Given the description of an element on the screen output the (x, y) to click on. 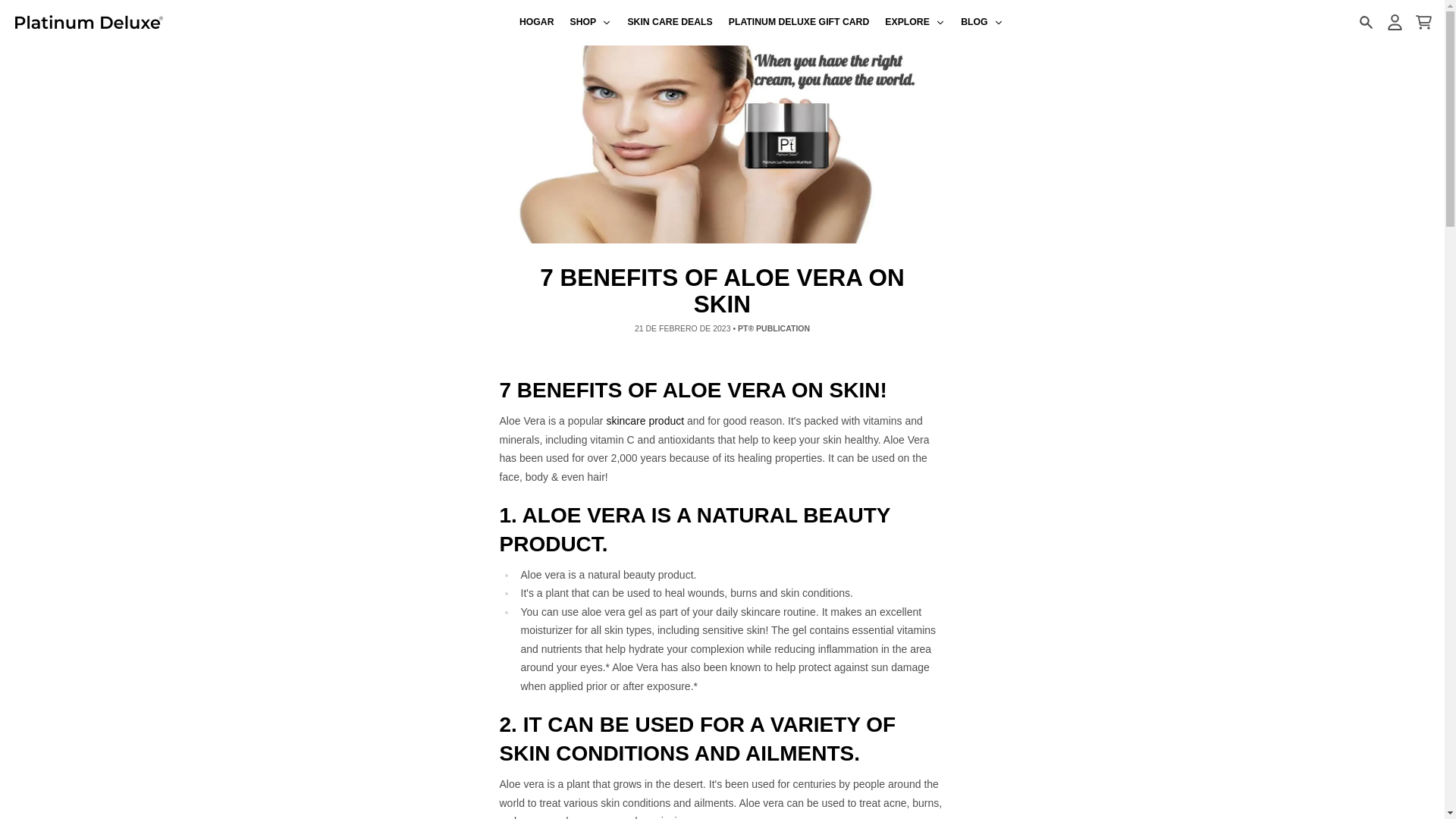
HOGAR (536, 22)
Ir directamente al contenido (18, 7)
PLATINUM DELUXE GIFT CARD (798, 22)
SKIN CARE DEALS (670, 22)
Cuenta (1394, 22)
7 Benefits Of Aloe Vera On Skin (644, 420)
Carro (1423, 22)
Buscar (1364, 22)
